Given the description of an element on the screen output the (x, y) to click on. 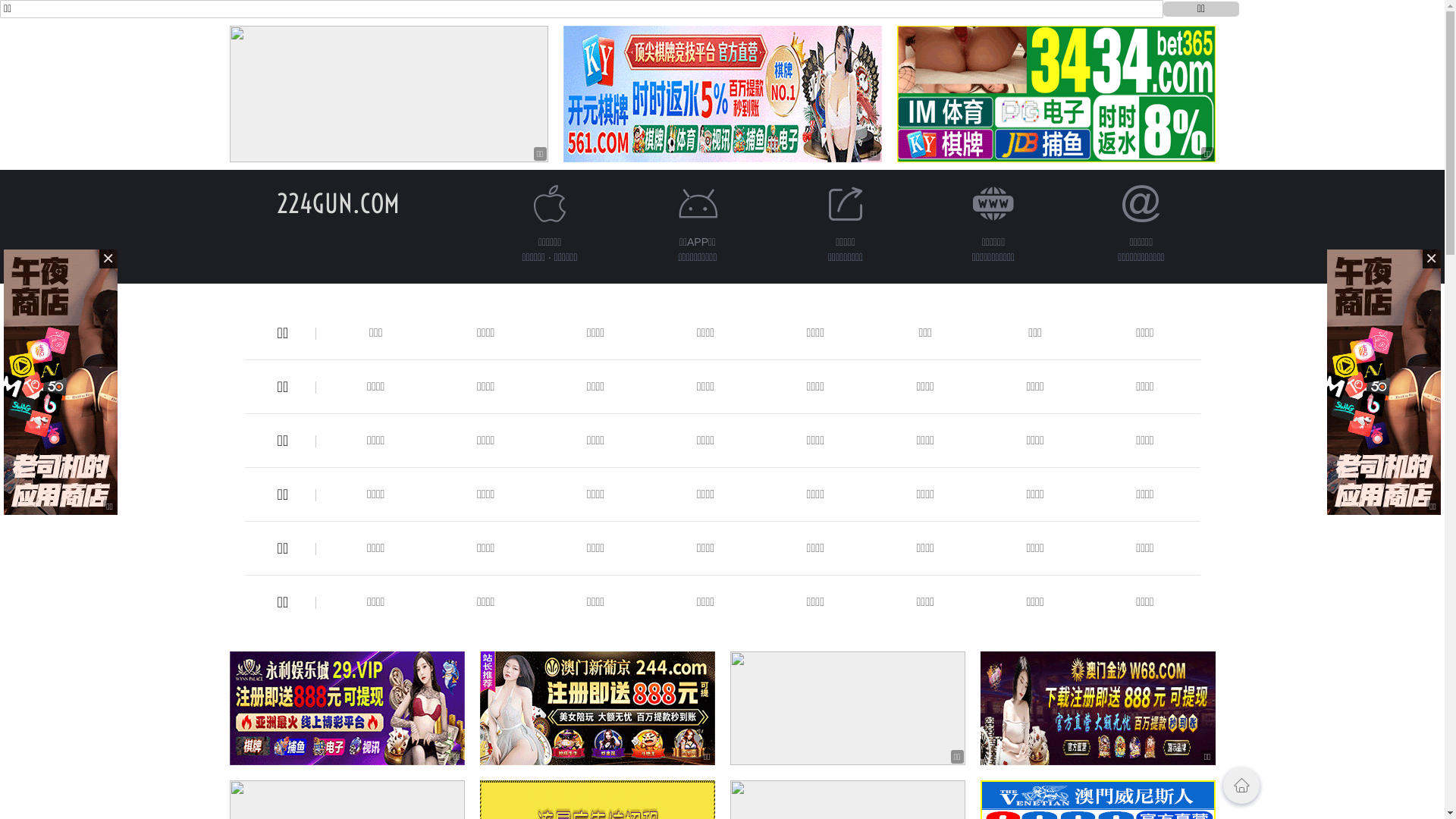
224GUN.COM Element type: text (337, 203)
